Given the description of an element on the screen output the (x, y) to click on. 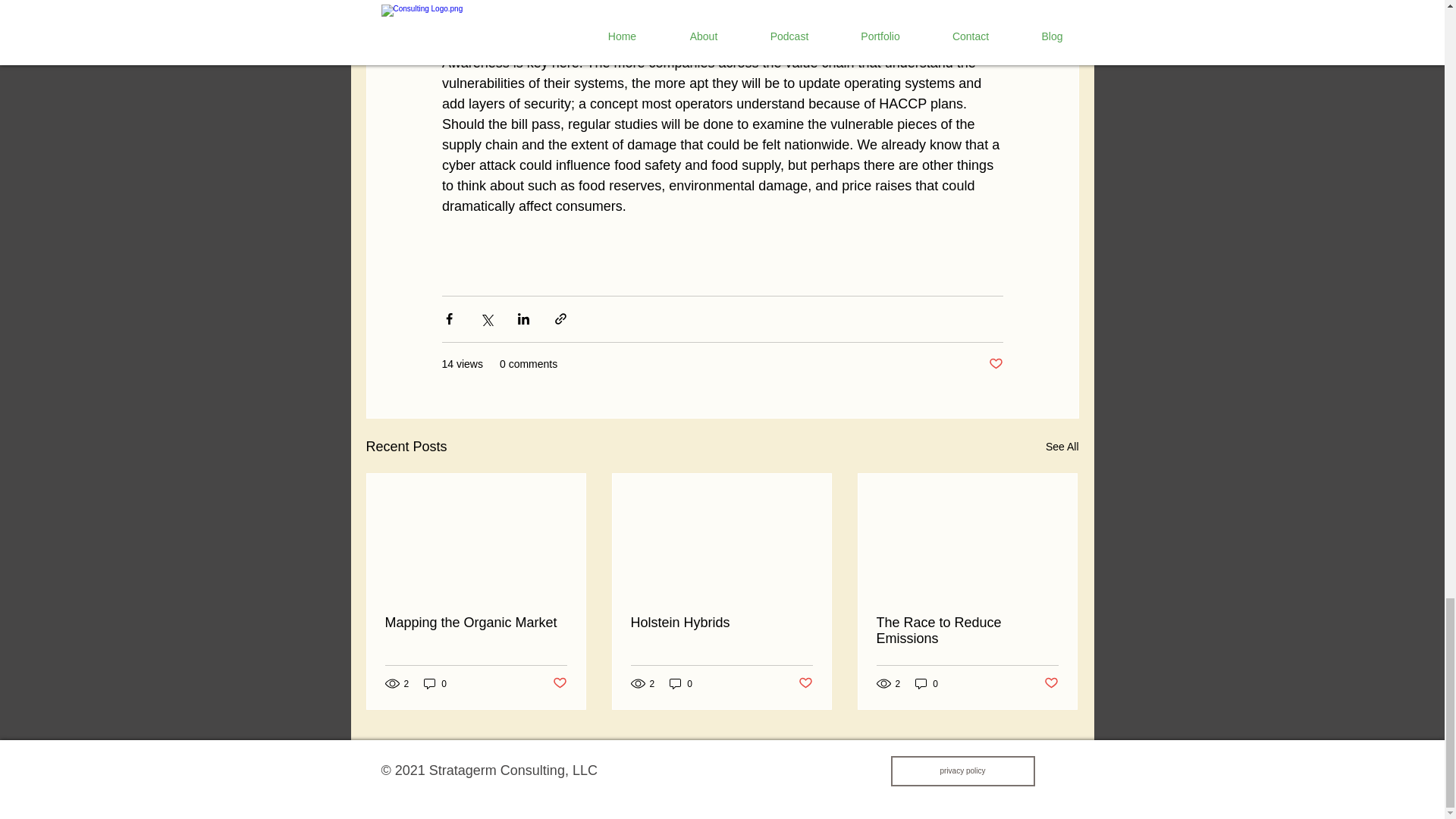
Post not marked as liked (995, 364)
Post not marked as liked (558, 683)
Holstein Hybrids (721, 622)
0 (681, 683)
Post not marked as liked (804, 683)
The Race to Reduce Emissions (967, 631)
0 (435, 683)
privacy policy (961, 770)
0 (926, 683)
Post not marked as liked (1050, 683)
